Given the description of an element on the screen output the (x, y) to click on. 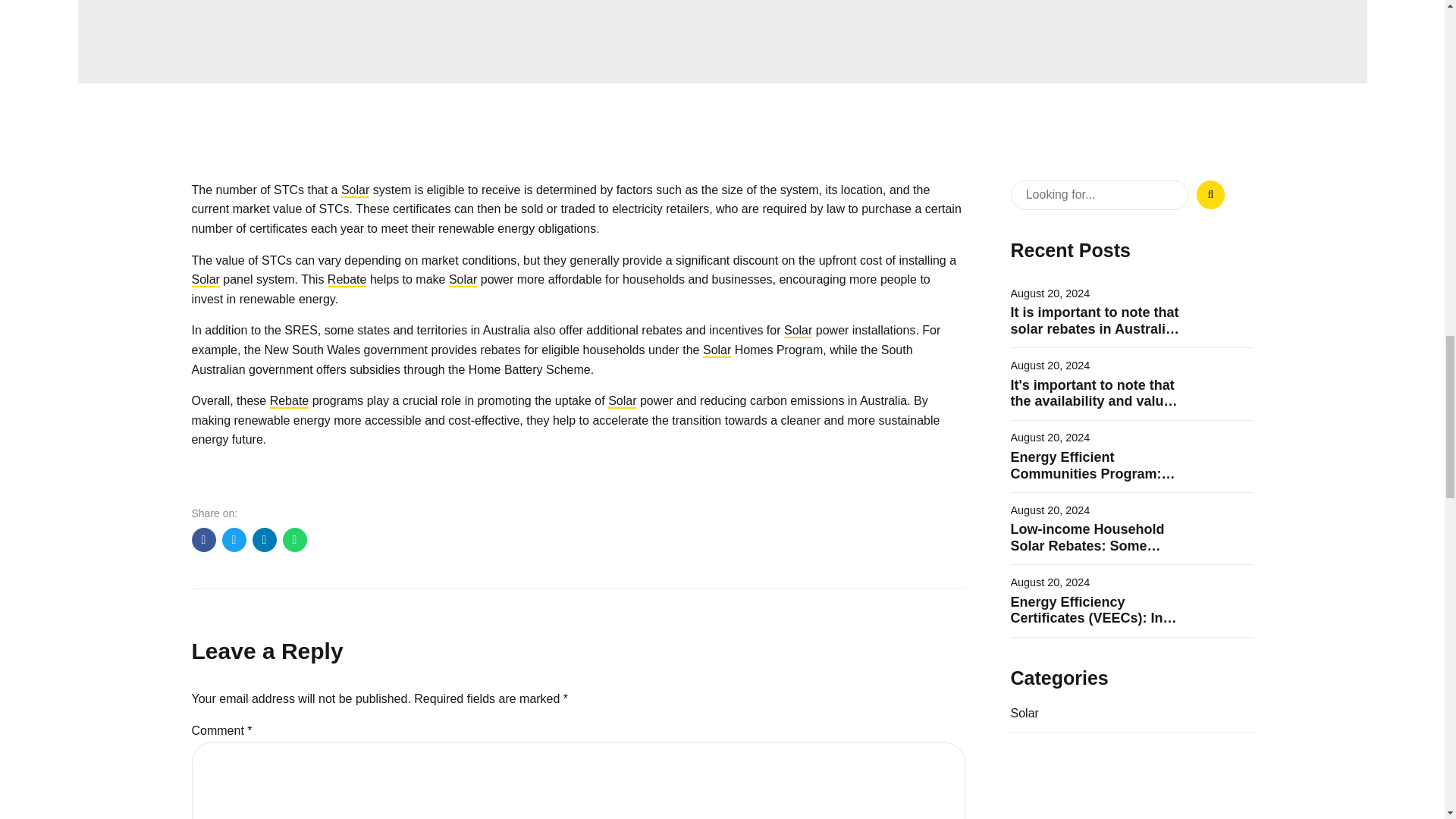
Share on Linkedin (263, 539)
Rebate (288, 400)
Share on WhatsApp (293, 539)
Share on Facebook (202, 539)
Rebate (346, 278)
Solar (354, 189)
Solar (204, 278)
Solar (716, 349)
